Given the description of an element on the screen output the (x, y) to click on. 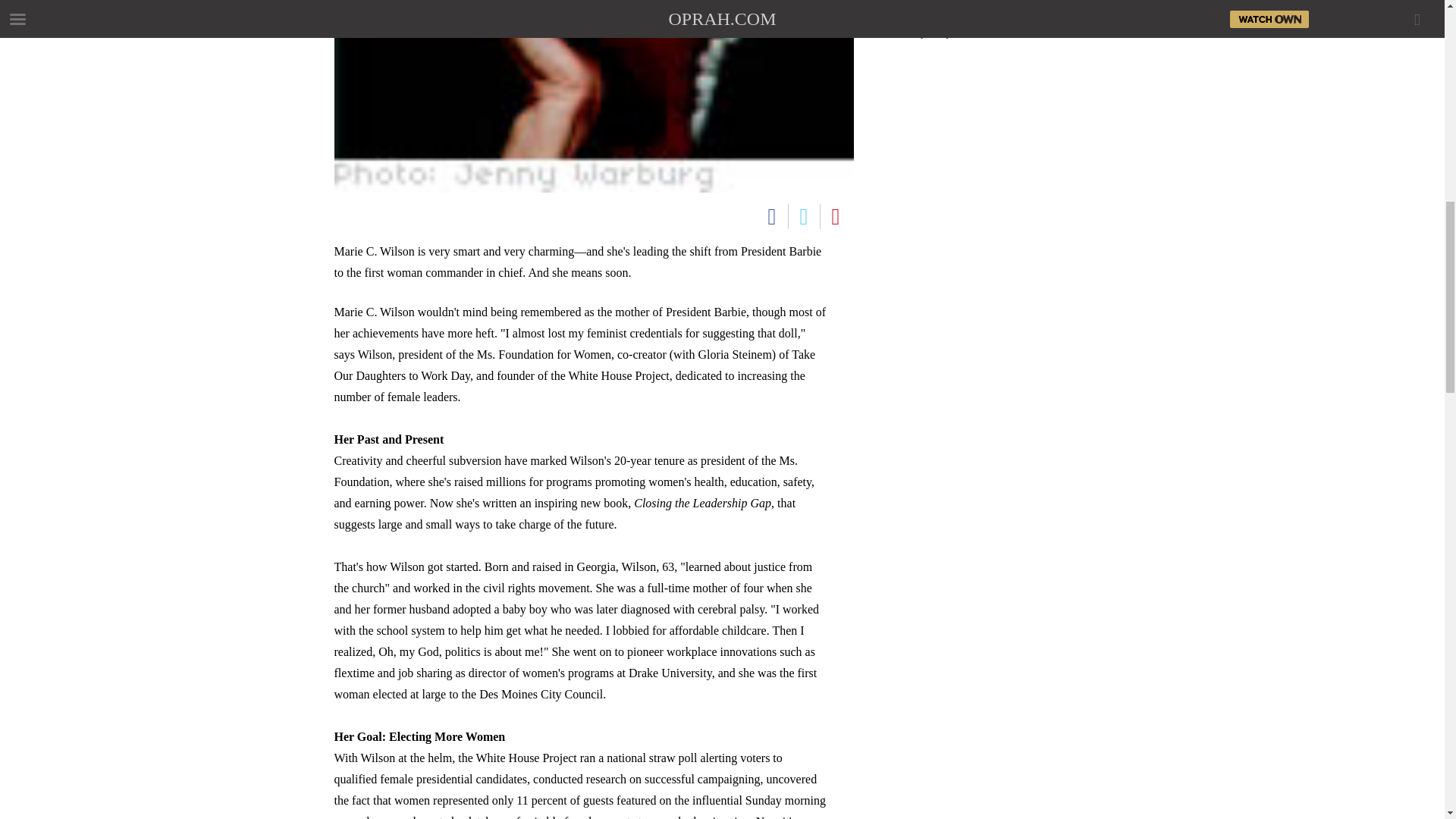
Marie C. Wilson (593, 96)
Privacy Policy (923, 32)
